Given the description of an element on the screen output the (x, y) to click on. 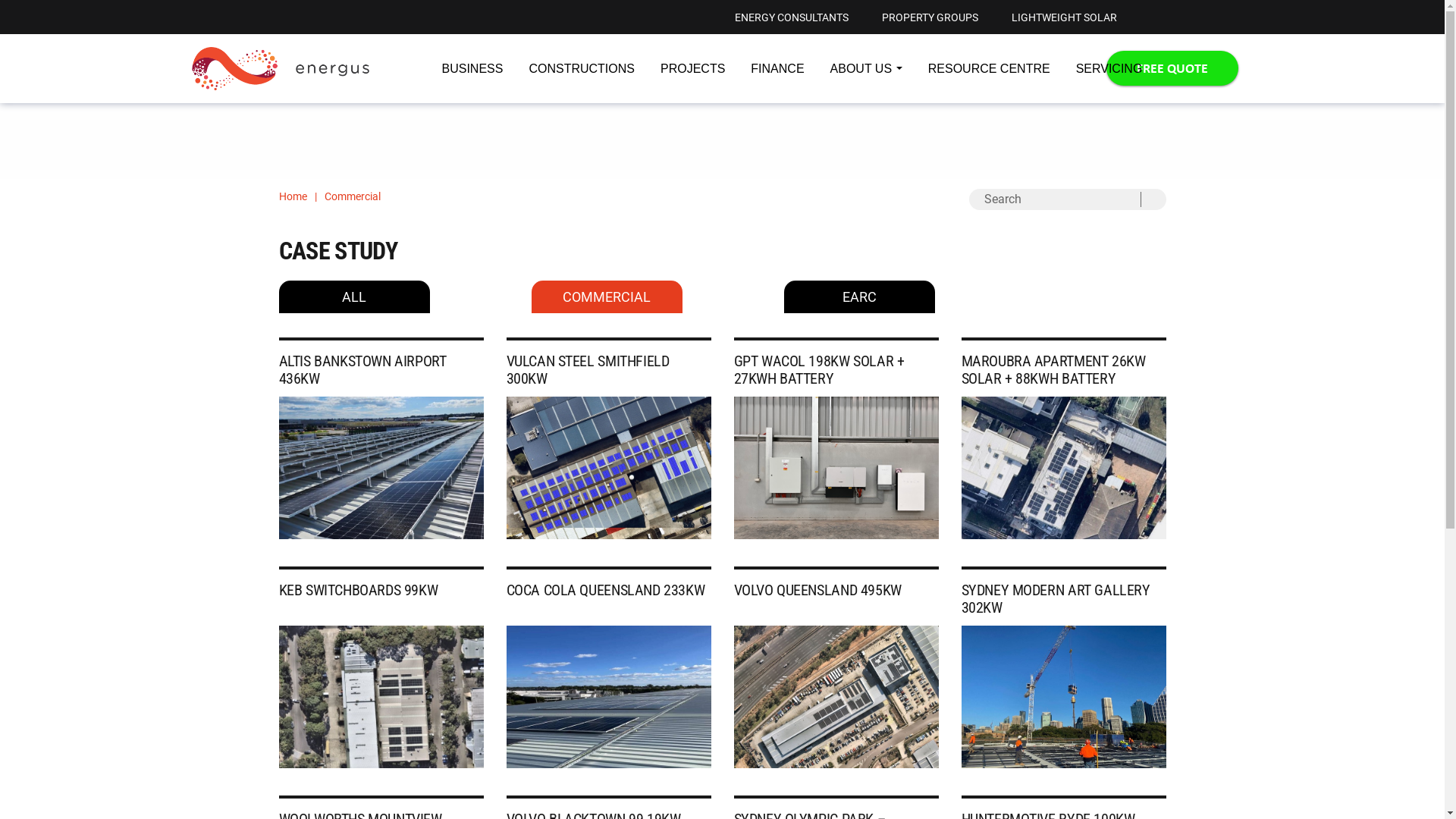
ABOUT US Element type: text (866, 68)
FINANCE Element type: text (776, 68)
VULCAN STEEL SMITHFIELD 300KW Element type: text (587, 369)
COCA COLA QUEENSLAND 233KW Element type: text (605, 589)
PROJECTS Element type: text (692, 68)
ALTIS BANKSTOWN AIRPORT 436KW Element type: text (362, 369)
COMMERCIAL Element type: text (606, 296)
Home Element type: text (293, 196)
VOLVO QUEENSLAND 495KW Element type: text (817, 589)
PROPERTY GROUPS Element type: text (929, 17)
KEB SWITCHBOARDS 99KW Element type: text (358, 589)
GPT WACOL 198KW SOLAR + 27KWH BATTERY Element type: text (819, 369)
CONSTRUCTIONS Element type: text (581, 68)
SERVICING Element type: text (1109, 68)
MAROUBRA APARTMENT 26KW SOLAR + 88KWH BATTERY Element type: text (1053, 369)
LIGHTWEIGHT SOLAR Element type: text (1064, 17)
SYDNEY MODERN ART GALLERY 302KW Element type: text (1055, 598)
EARC Element type: text (859, 296)
FREE QUOTE Element type: text (1171, 67)
RESOURCE CENTRE Element type: text (989, 68)
BUSINESS Element type: text (471, 68)
ALL Element type: text (354, 296)
ENERGY CONSULTANTS Element type: text (790, 17)
